Given the description of an element on the screen output the (x, y) to click on. 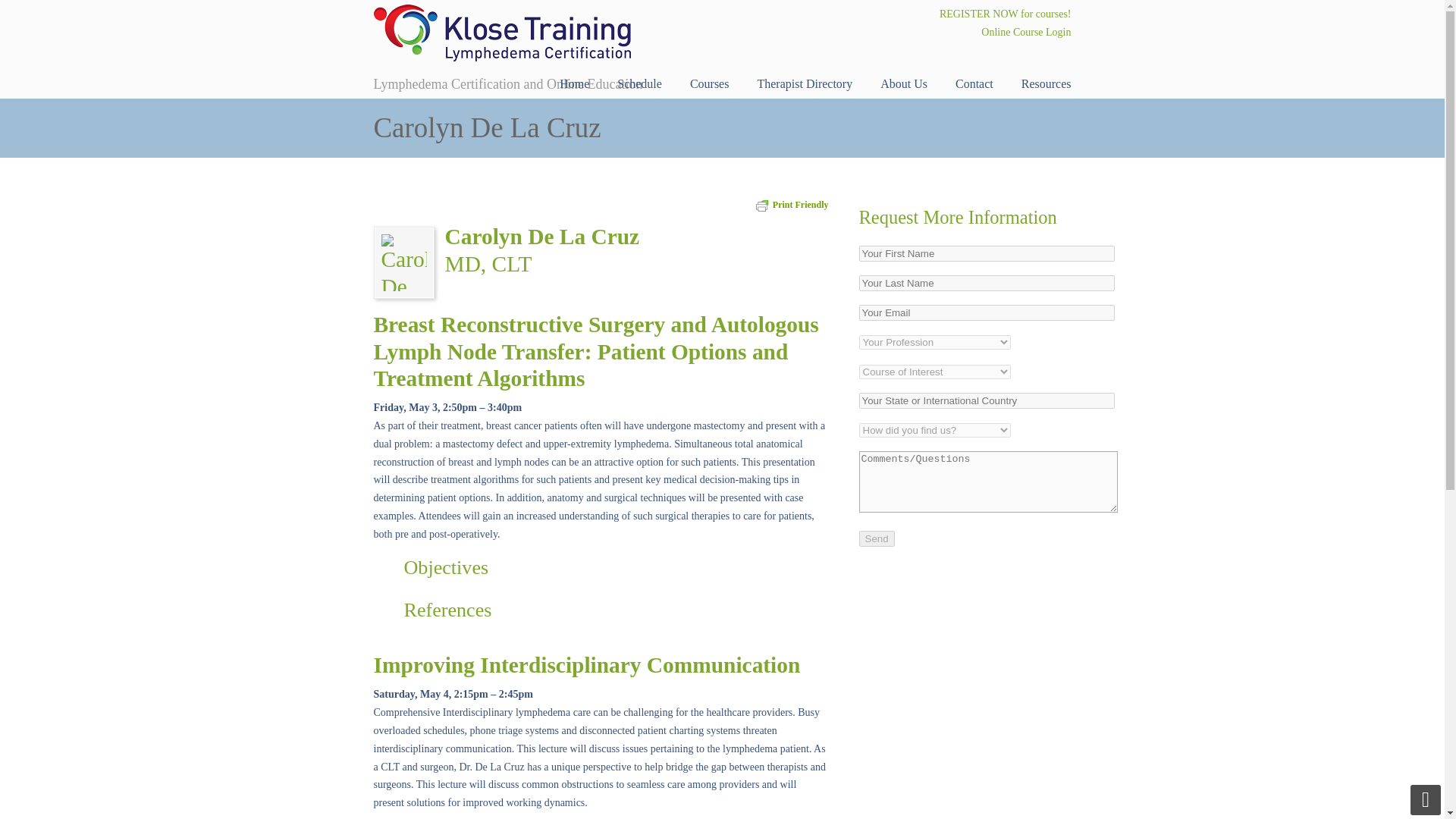
Klose Training (501, 32)
REGISTER NOW for courses! (1005, 13)
Send (876, 538)
Online Course Login (1025, 31)
Contact (974, 83)
Courses (709, 83)
About Us (903, 83)
Schedule (639, 83)
Resources (1046, 83)
Klose Training (501, 32)
